Given the description of an element on the screen output the (x, y) to click on. 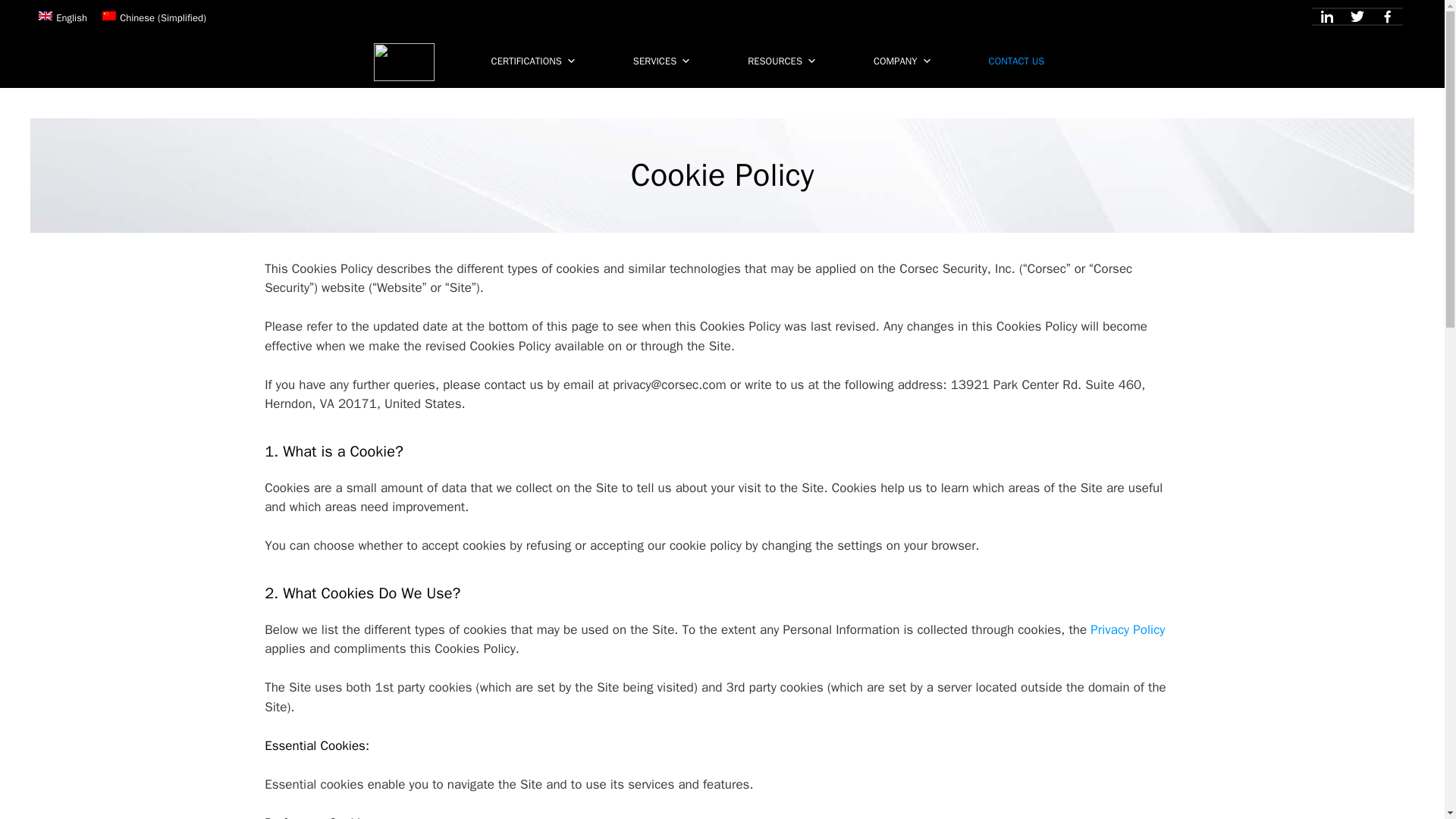
English (62, 17)
Twitter (1357, 16)
RESOURCES (786, 57)
CONTACT US (1020, 57)
Facebook (1388, 16)
COMPANY (907, 57)
LinkedIn (1326, 16)
English (45, 15)
SERVICES (665, 57)
CERTIFICATIONS (537, 57)
